Given the description of an element on the screen output the (x, y) to click on. 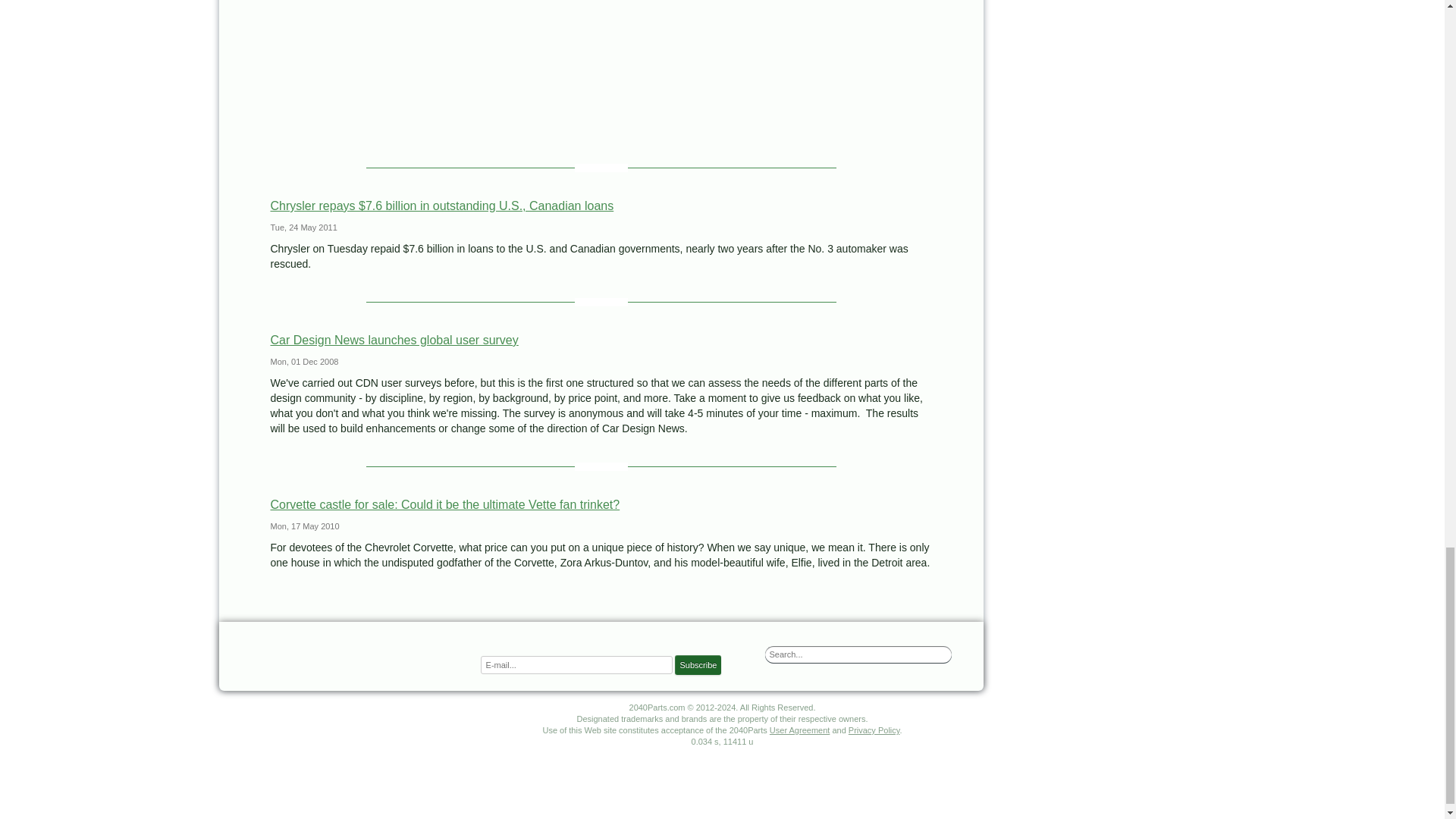
Subscribe (697, 664)
Cars (350, 653)
Car Design News launches global user survey (393, 339)
Privacy Policy (873, 729)
Subscribe (697, 664)
User Agreement (799, 729)
